Given the description of an element on the screen output the (x, y) to click on. 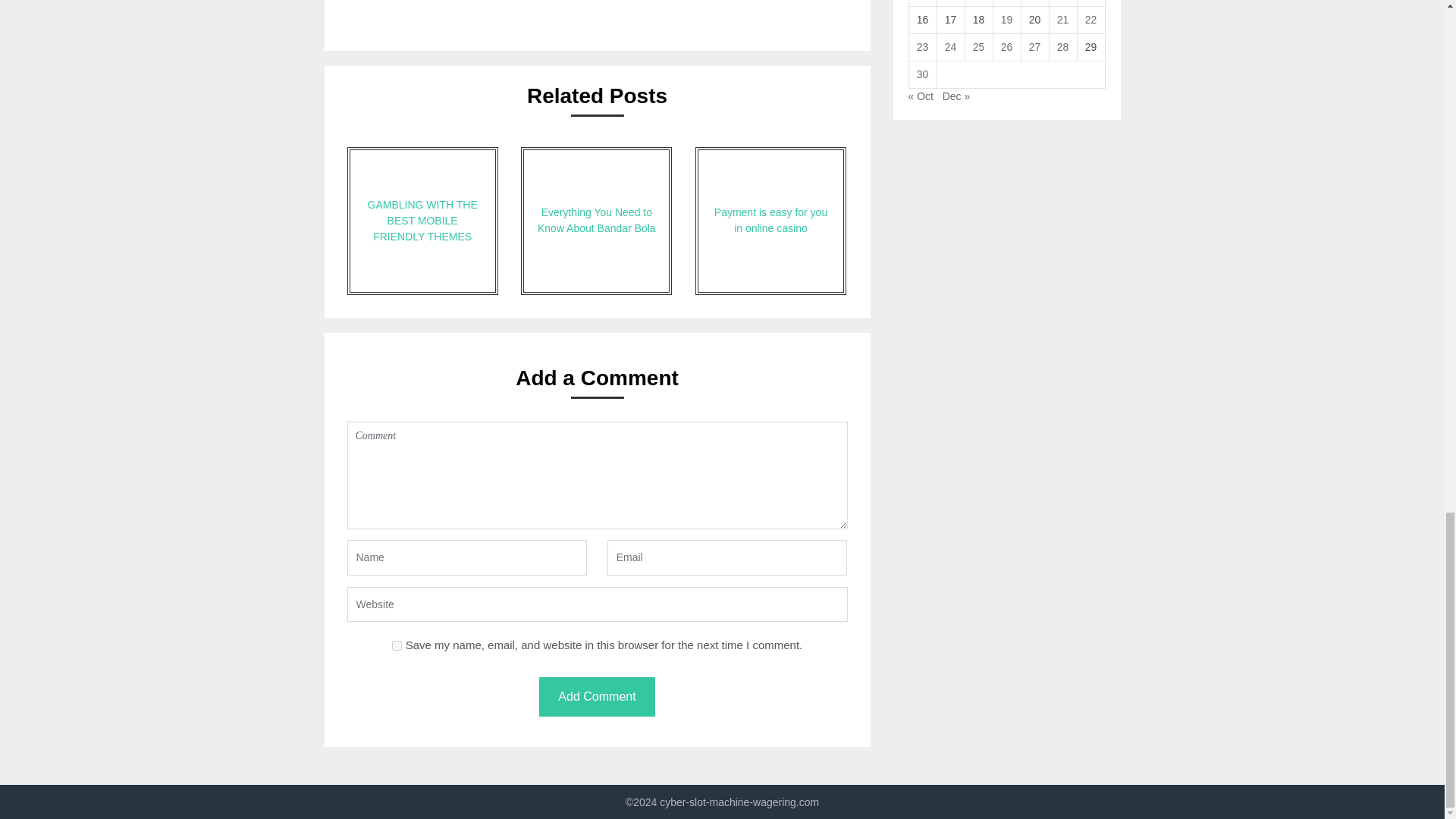
22 (1090, 19)
25 (978, 46)
26 (1007, 46)
27 (1035, 46)
Everything You Need to Know About Bandar Bola (596, 220)
24 (950, 46)
21 (1062, 19)
19 (1007, 19)
Payment is easy for you in online casino (770, 220)
Everything You Need to Know About Bandar Bola (596, 220)
GAMBLING WITH THE BEST MOBILE FRIENDLY THEMES (422, 220)
GAMBLING WITH THE BEST MOBILE FRIENDLY THEMES (422, 220)
Add Comment (595, 697)
Add Comment (595, 697)
23 (922, 46)
